Given the description of an element on the screen output the (x, y) to click on. 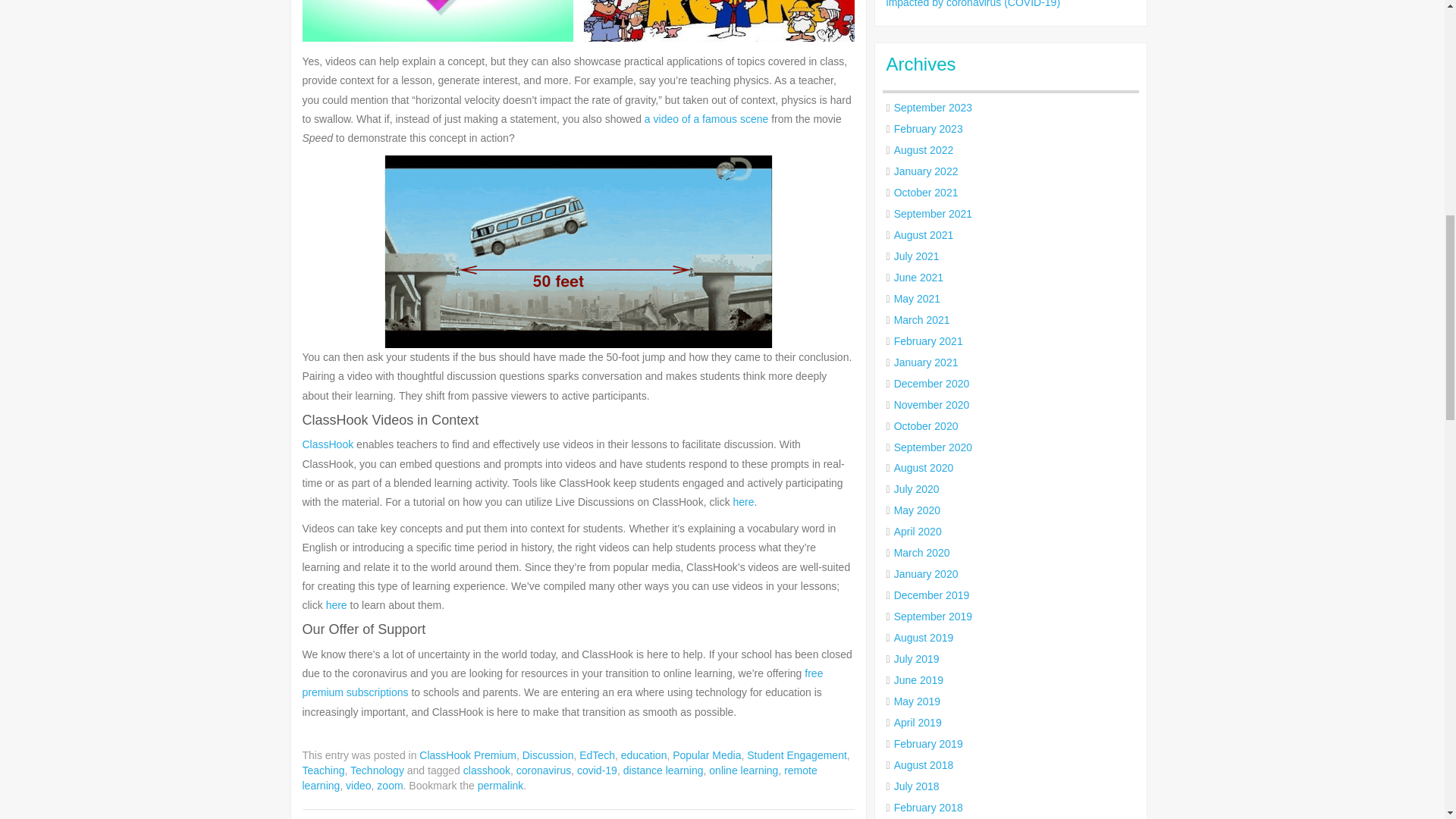
here (336, 604)
EdTech (596, 755)
Discussion (547, 755)
Technology (377, 770)
education (643, 755)
free premium subscriptions (561, 682)
distance learning (663, 770)
ClassHook (327, 444)
coronavirus (543, 770)
video (358, 785)
covid-19 (596, 770)
classhook (487, 770)
permalink (500, 785)
Teaching (322, 770)
Popular Media (706, 755)
